Given the description of an element on the screen output the (x, y) to click on. 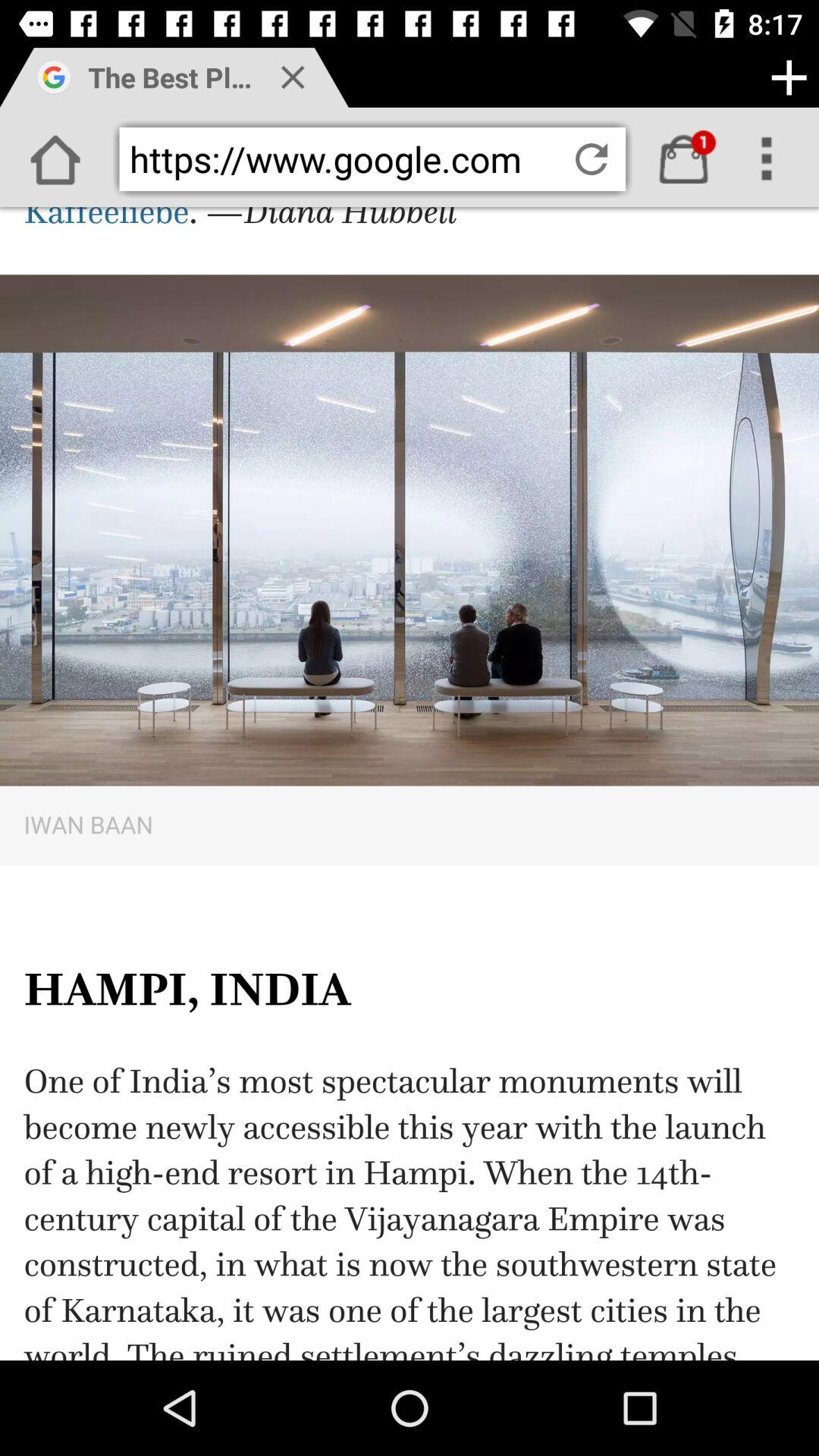
apps (789, 77)
